Given the description of an element on the screen output the (x, y) to click on. 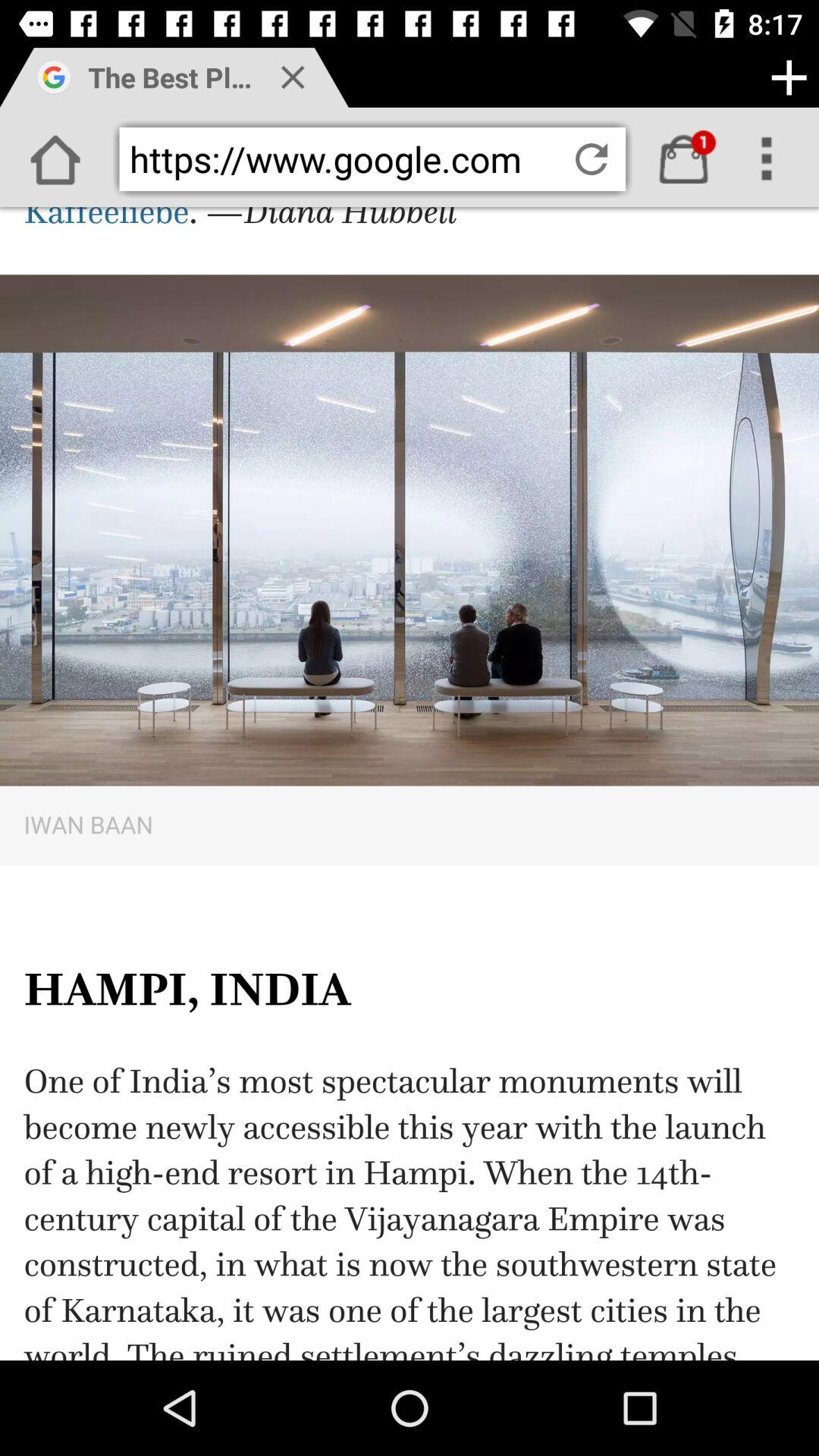
apps (789, 77)
